Given the description of an element on the screen output the (x, y) to click on. 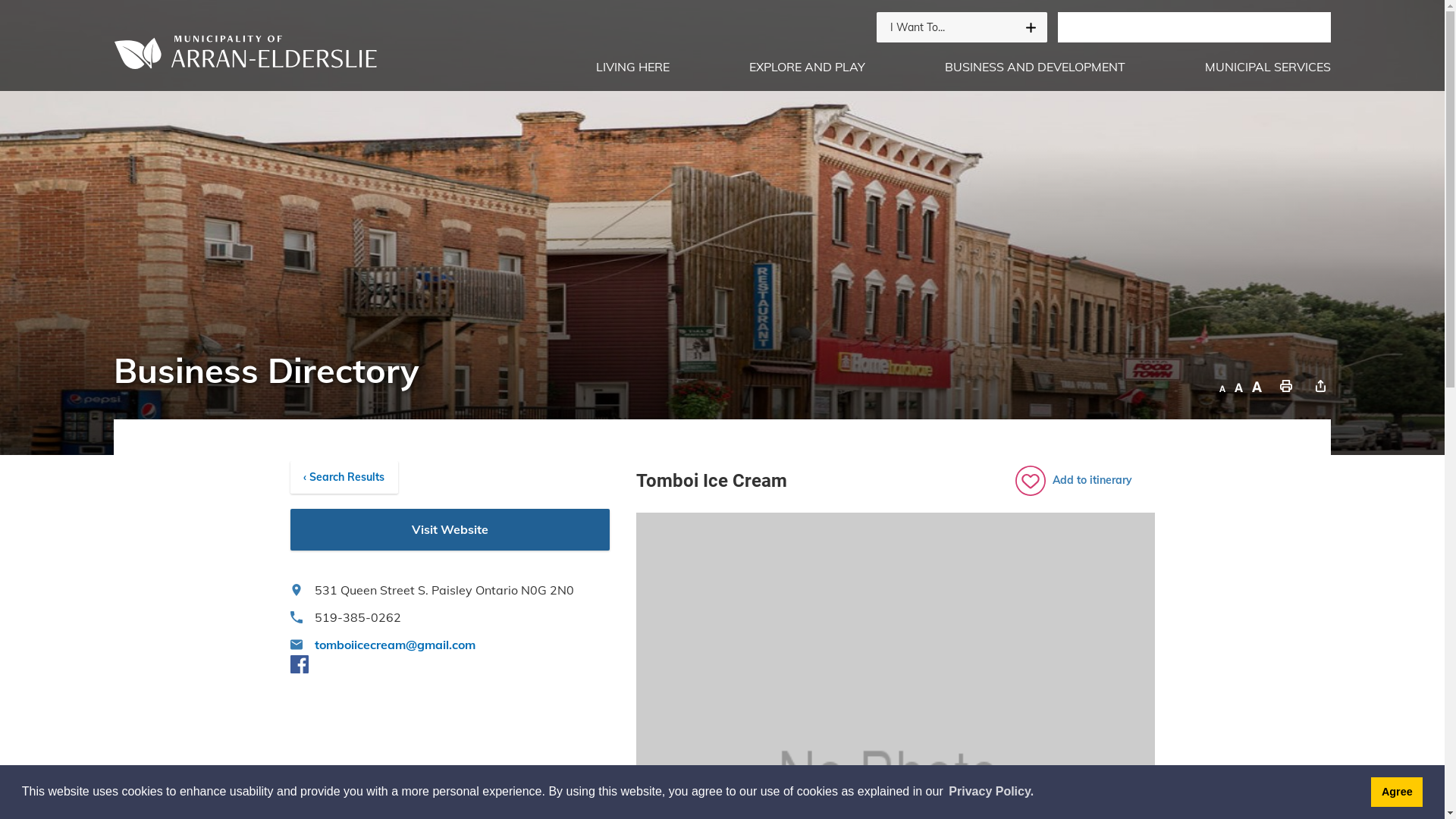
 Municipality of Arran-Elderslie Element type: hover (722, 227)
Visit Website Element type: text (449, 529)
Add to itinerary Element type: text (1084, 480)
Privacy Policy. Element type: text (990, 791)
Agree Element type: text (1396, 791)
Click to return to the homepage Element type: hover (251, 49)
Print This Page Element type: hover (1286, 386)
Link for Facebook Page for Tomboi Ice Cream Element type: hover (298, 663)
Increase text size Element type: hover (1256, 386)
LIVING HERE Element type: text (632, 66)
tomboiicecream@gmail.com Element type: text (449, 644)
MUNICIPAL SERVICES Element type: text (1261, 66)
Default text size Element type: hover (1238, 386)
Decrease text size Element type: hover (1222, 386)
View our Homepage Element type: hover (251, 51)
Skip to Content Element type: text (0, 0)
I Want To... Element type: text (961, 27)
EXPLORE AND PLAY Element type: text (806, 66)
BUSINESS AND DEVELOPMENT Element type: text (1034, 66)
